Given the description of an element on the screen output the (x, y) to click on. 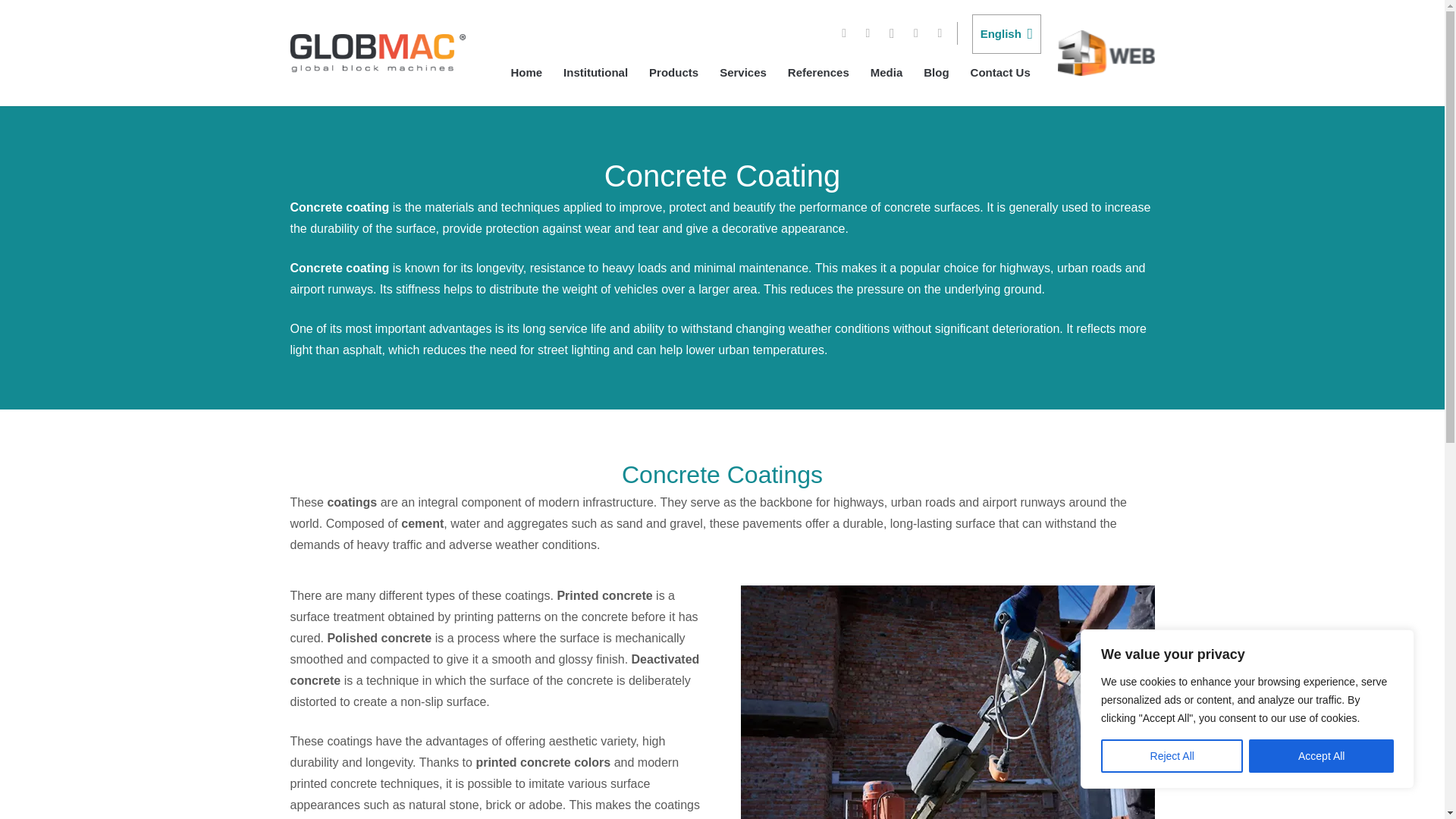
Home (526, 72)
Services (743, 72)
English (1006, 34)
Products (674, 72)
Accept All (1321, 756)
Institutional (596, 72)
Reject All (1171, 756)
